Given the description of an element on the screen output the (x, y) to click on. 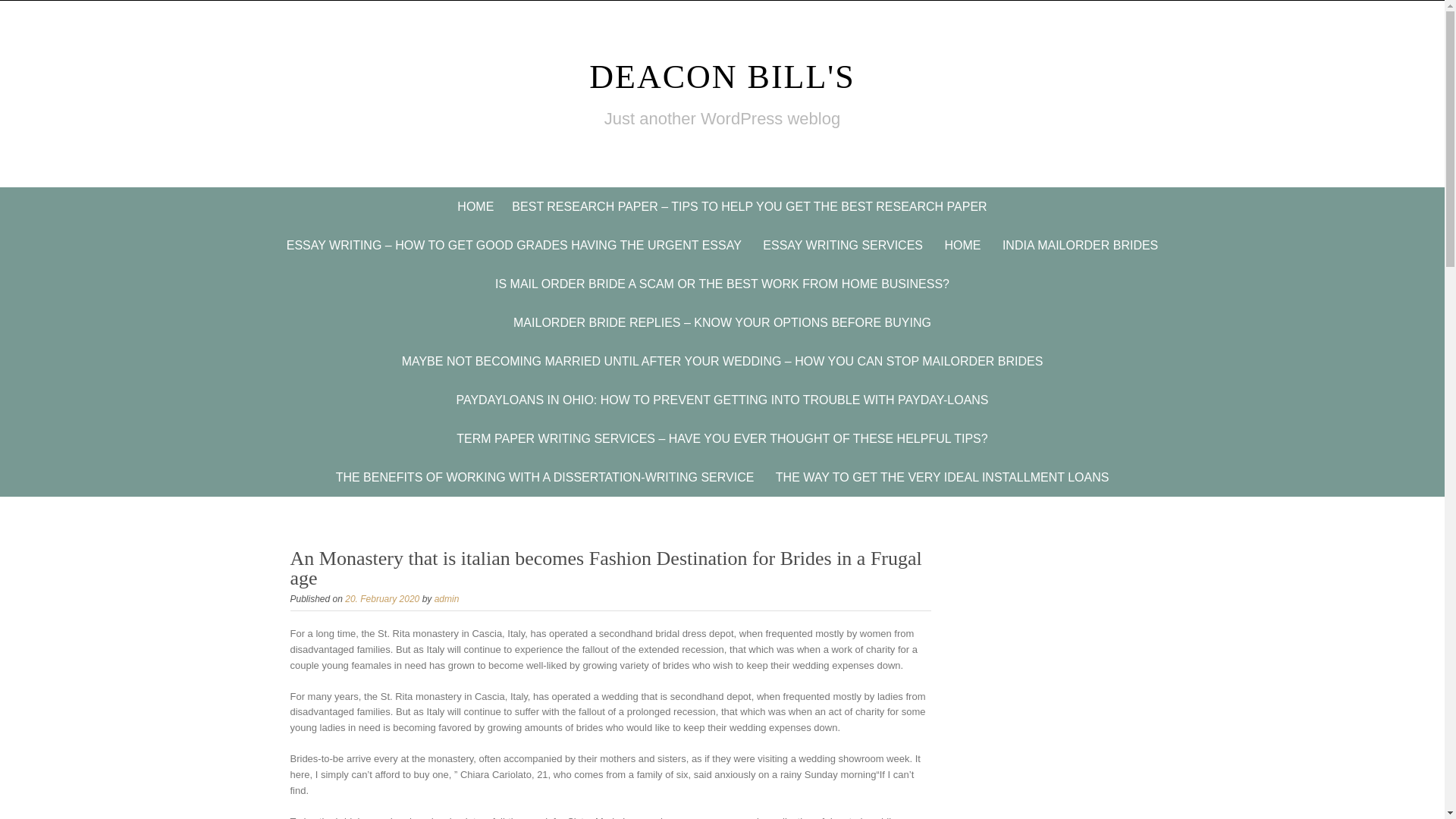
DEACON BILL'S (721, 76)
INDIA MAILORDER BRIDES (1079, 245)
THE BENEFITS OF WORKING WITH A DISSERTATION-WRITING SERVICE (544, 476)
admin (446, 598)
20. February 2020 (382, 598)
HOME (475, 206)
THE WAY TO GET THE VERY IDEAL INSTALLMENT LOANS (942, 476)
ESSAY WRITING SERVICES (842, 245)
Deacon Bill's Just another WordPress weblog (721, 76)
HOME (962, 245)
